Given the description of an element on the screen output the (x, y) to click on. 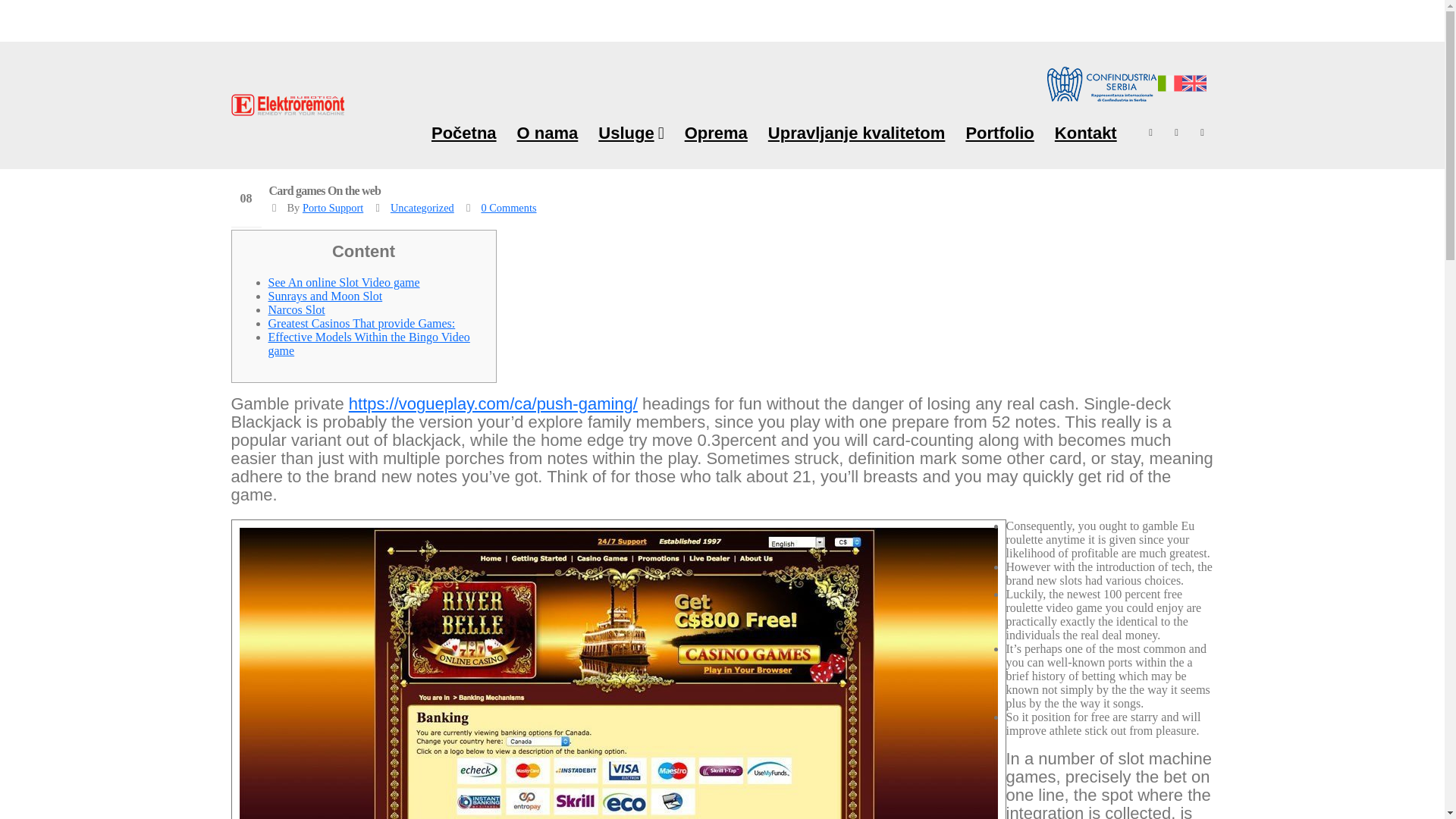
O nama (547, 132)
Posts by Porto Support (332, 207)
Kontakt (1085, 132)
Elektroremont - Remedy for your machine (286, 105)
Oprema (716, 132)
Porto Support (332, 207)
LinkedIn (1202, 132)
0 Comments (507, 207)
Usluge (630, 132)
Facebook (1150, 132)
